Given the description of an element on the screen output the (x, y) to click on. 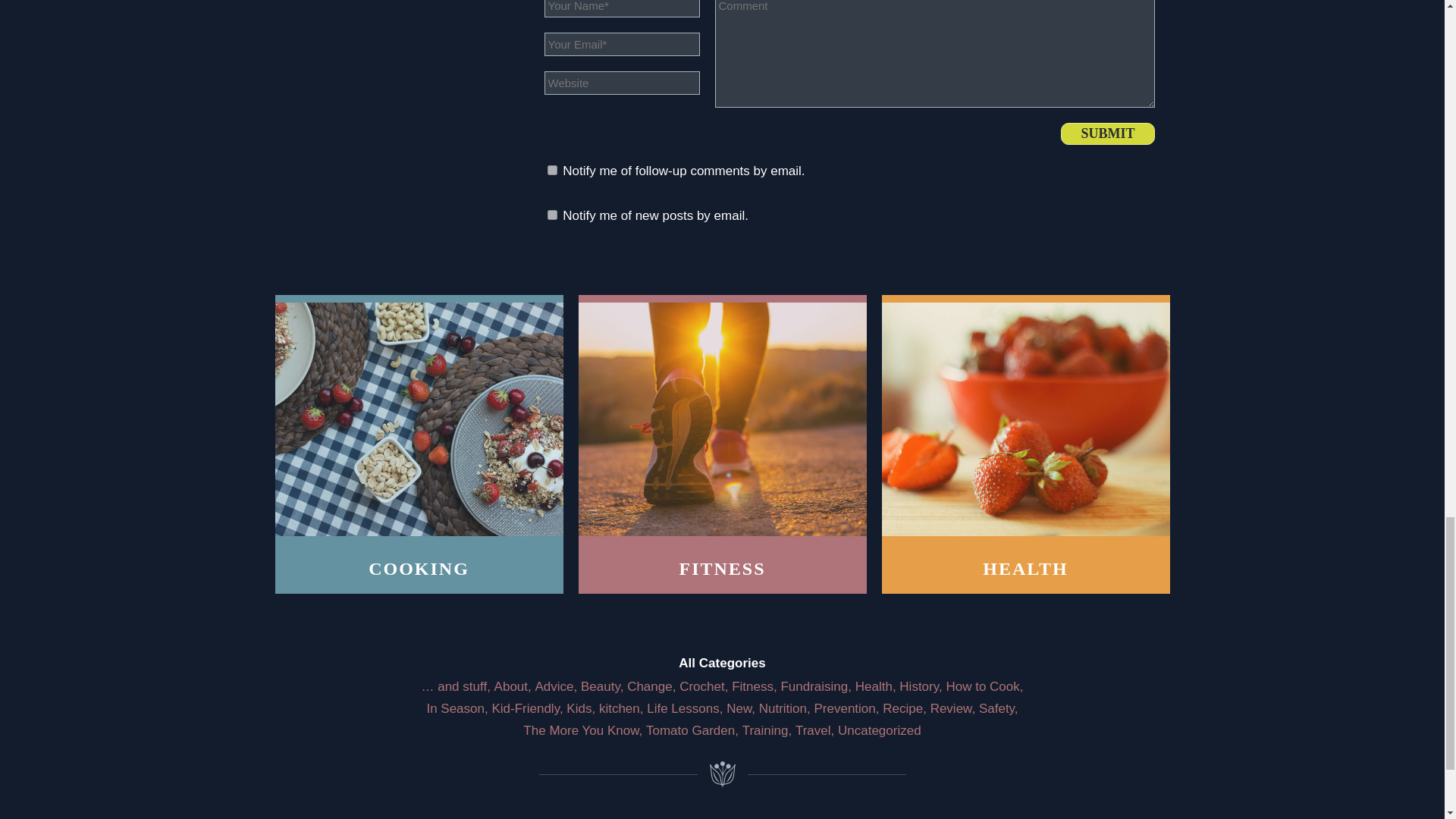
Fundraising (813, 686)
Crochet (702, 686)
About (511, 686)
Submit (1107, 133)
Beauty (600, 686)
subscribe (552, 214)
FITNESS (722, 443)
COOKING (418, 443)
Fitness (752, 686)
Change (649, 686)
subscribe (552, 170)
HEALTH (1024, 443)
Submit (1107, 133)
Advice (554, 686)
Health (874, 686)
